Given the description of an element on the screen output the (x, y) to click on. 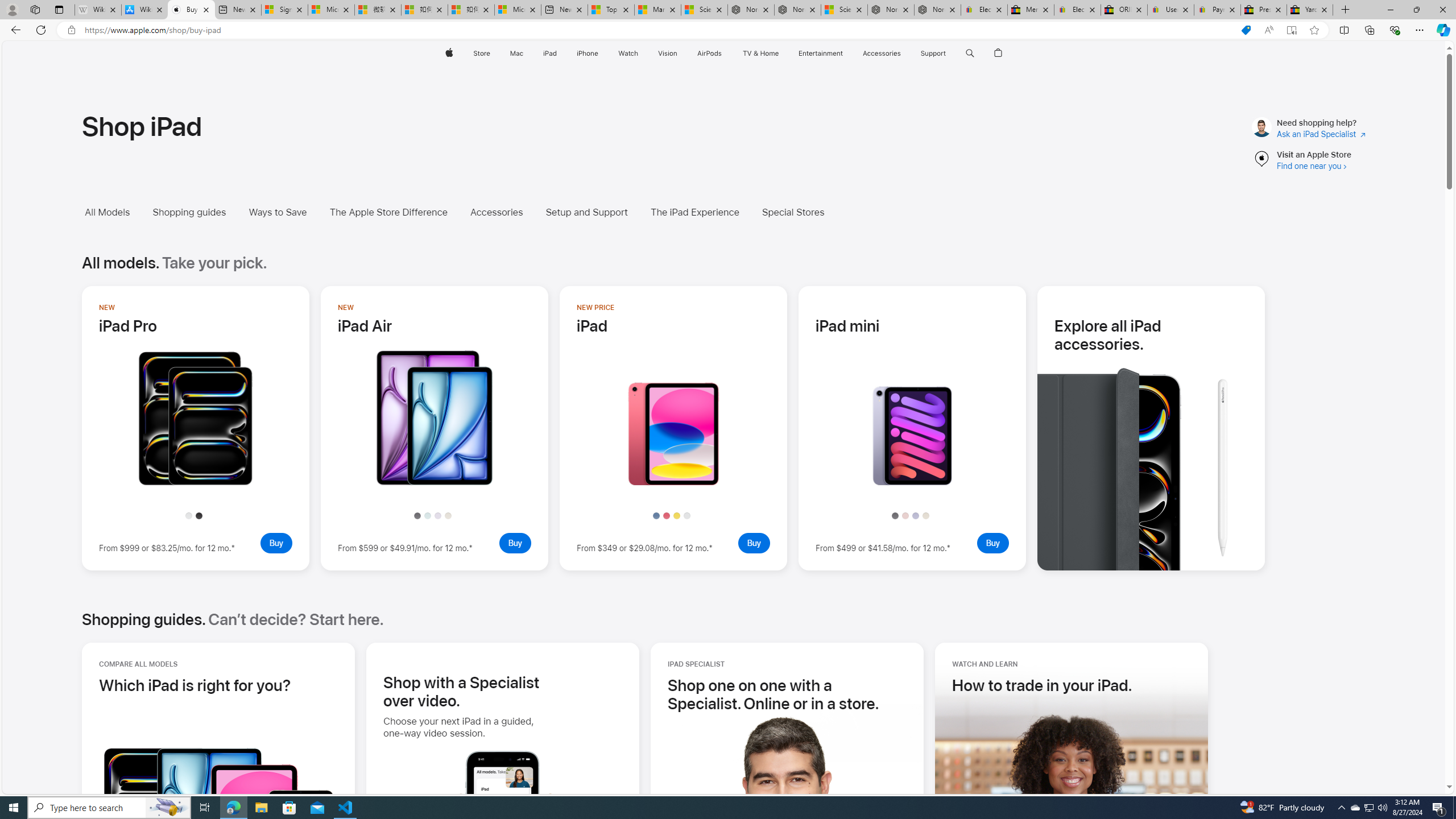
Shop with a Specialist over video. - (Opens in a new window) (461, 691)
AirPods (709, 53)
Special Stores (801, 212)
